Given the description of an element on the screen output the (x, y) to click on. 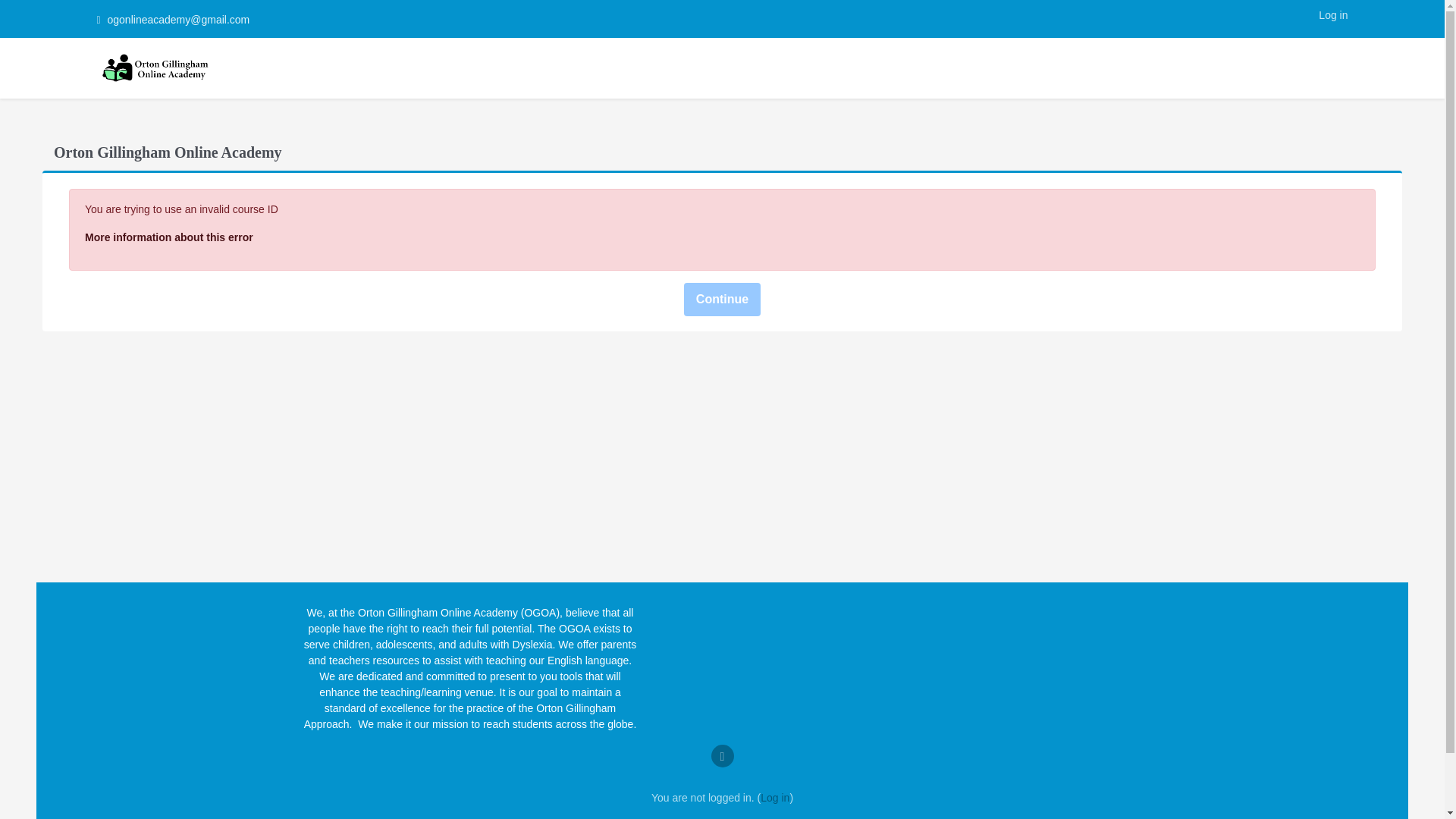
Continue (722, 299)
Log in (1333, 15)
Log in (774, 797)
More information about this error (168, 236)
